Given the description of an element on the screen output the (x, y) to click on. 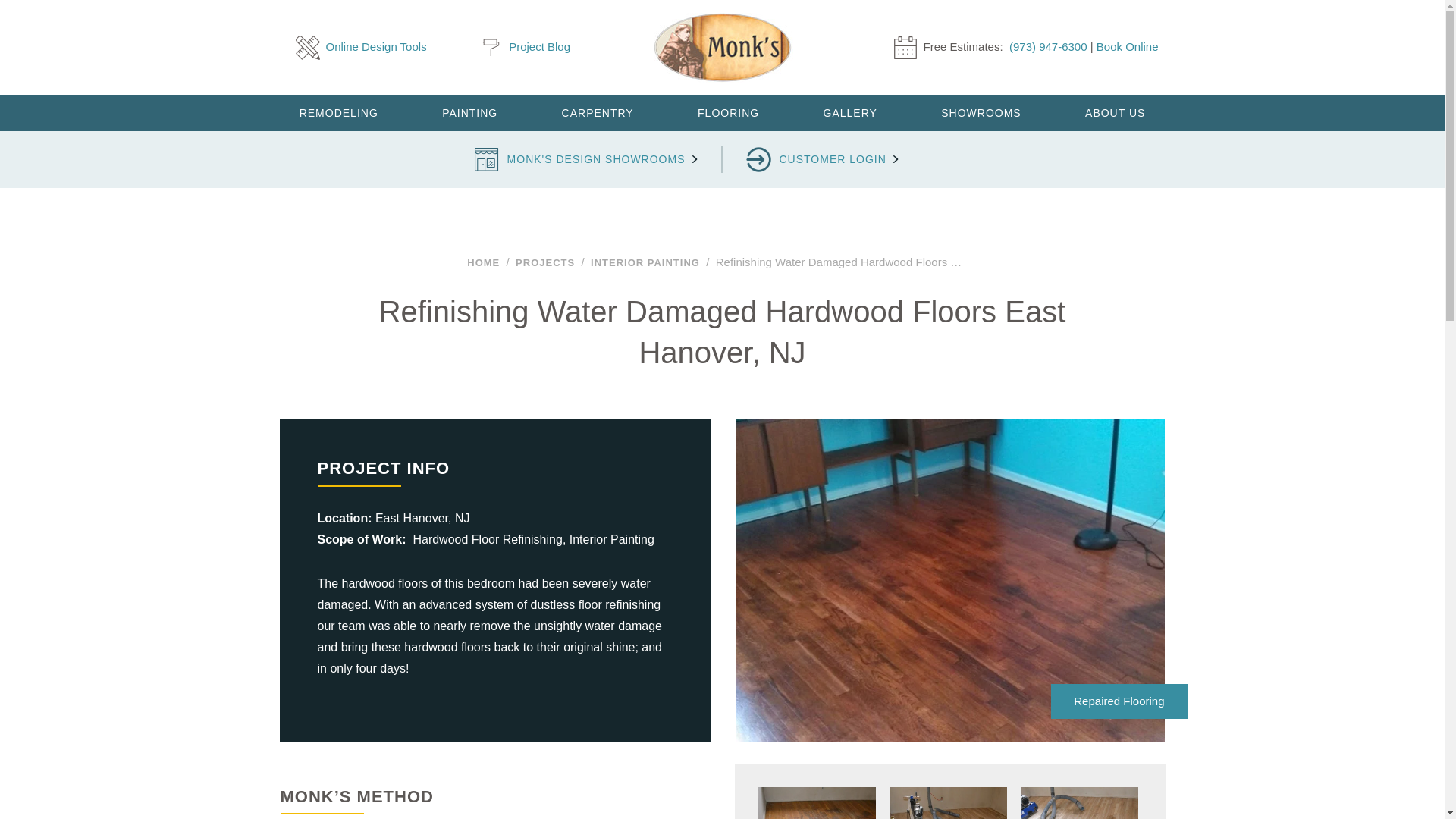
REMODELING (337, 113)
Project Blog (524, 46)
PAINTING (469, 113)
SHOWROOMS (980, 113)
Book Online (1127, 46)
FLOORING (727, 113)
Online Design Tools (360, 46)
GALLERY (849, 113)
CARPENTRY (597, 113)
